Given the description of an element on the screen output the (x, y) to click on. 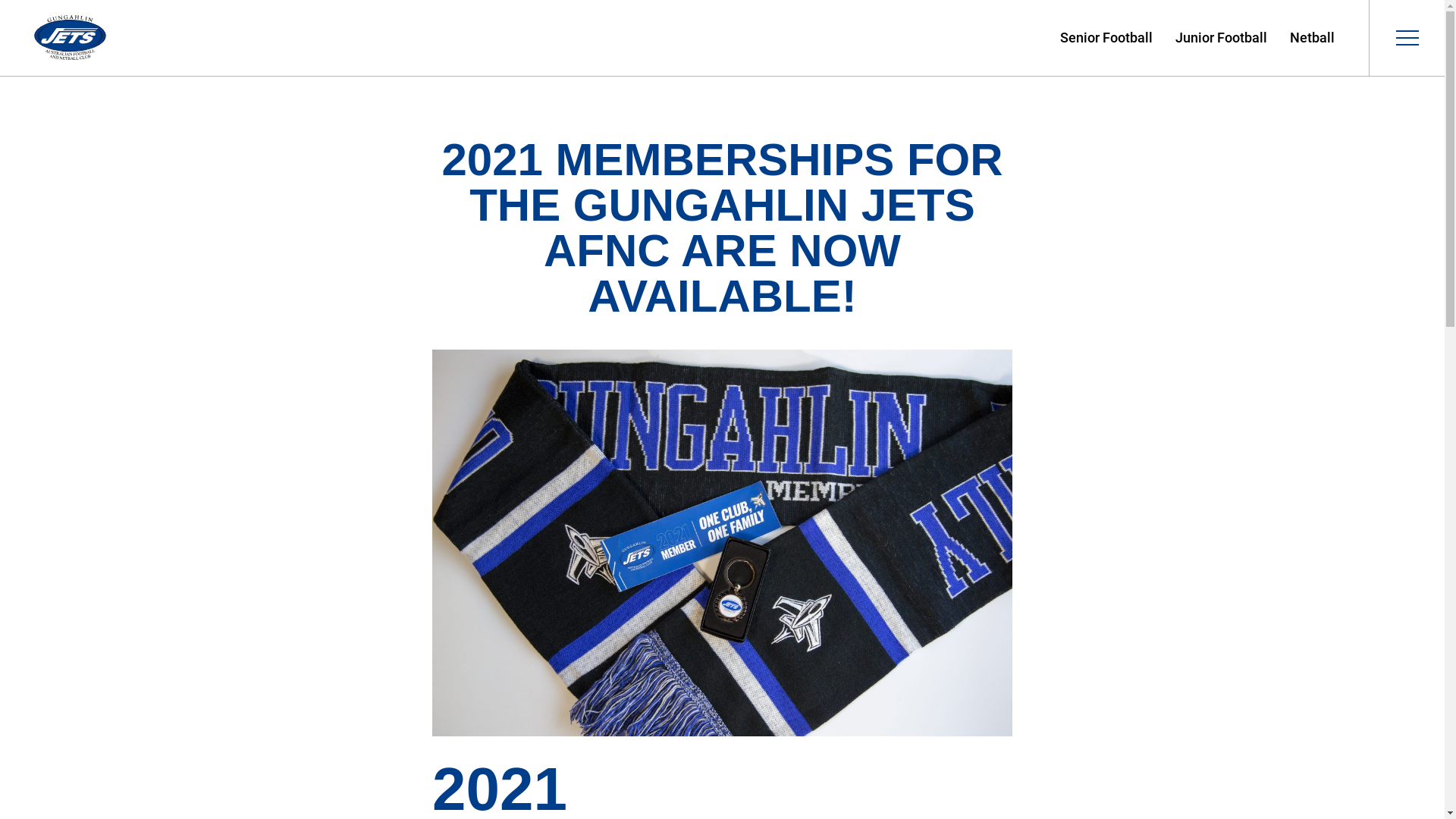
Netball Element type: text (1311, 37)
Senior Football Element type: text (1106, 37)
GUNGAHLIN JETS Element type: text (70, 37)
Junior Football Element type: text (1221, 37)
